Given the description of an element on the screen output the (x, y) to click on. 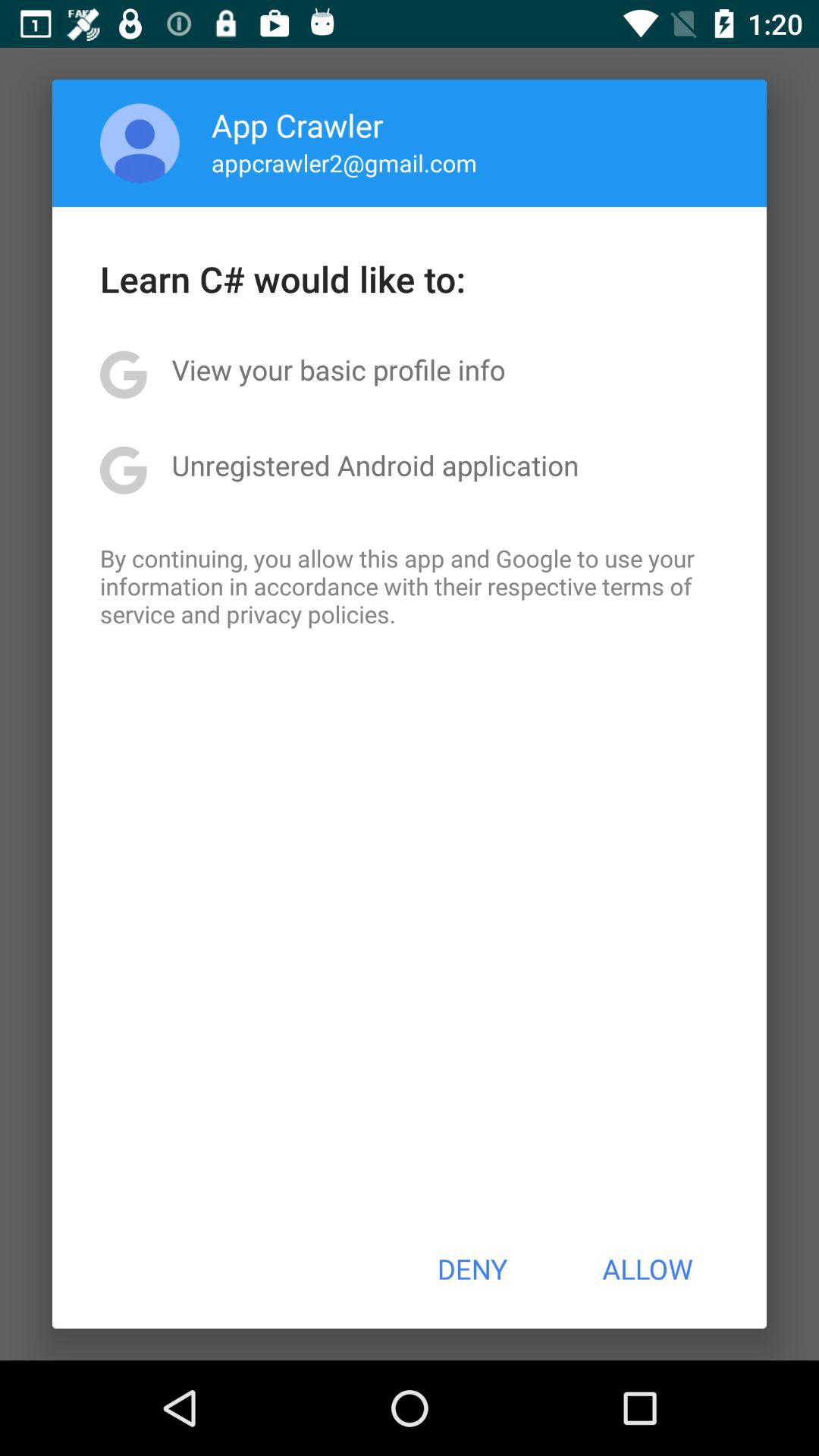
flip until unregistered android application item (374, 465)
